Given the description of an element on the screen output the (x, y) to click on. 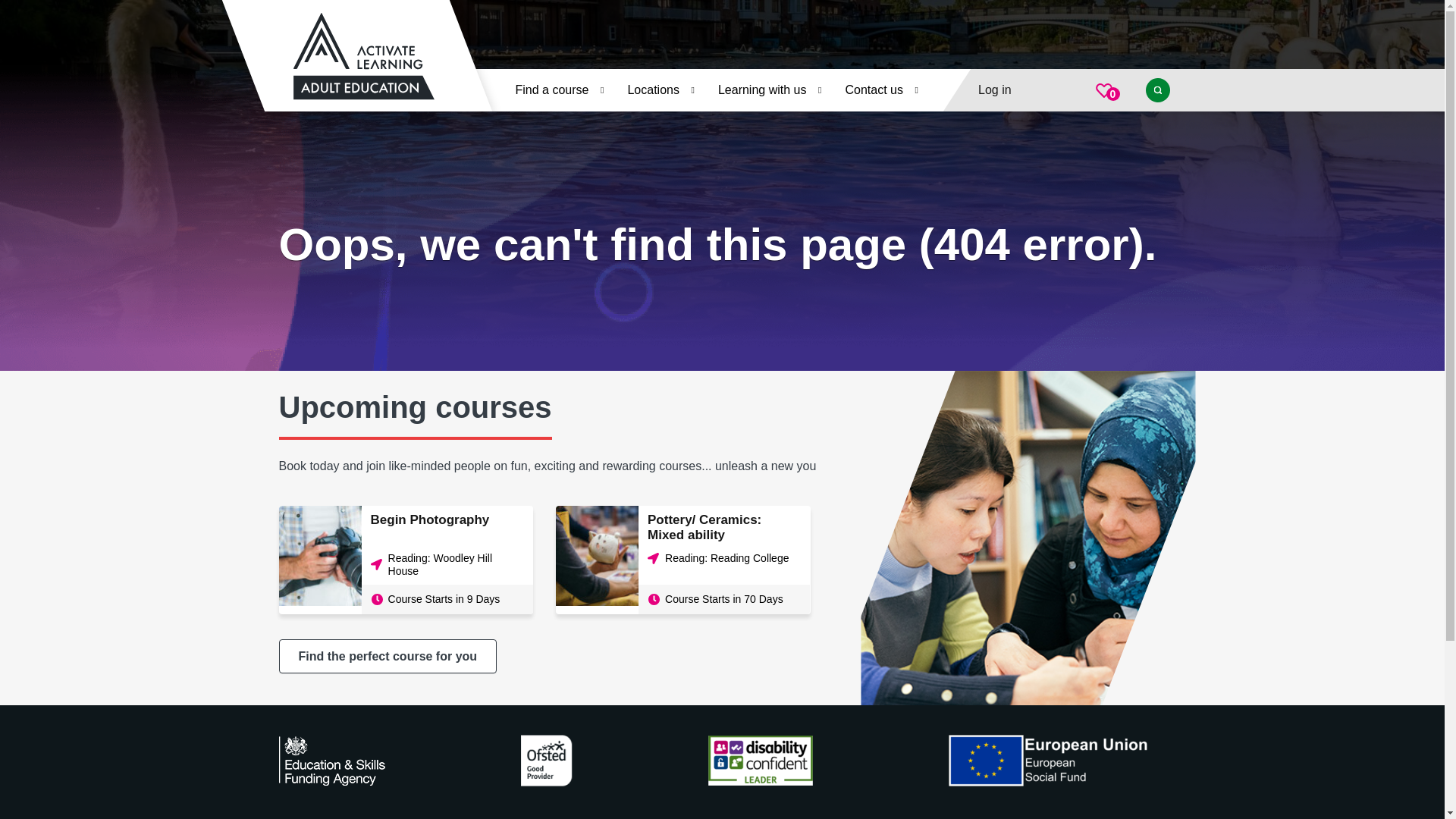
Log in (994, 90)
My Favourites (1103, 90)
Contact us (880, 89)
Search (1156, 89)
Locations (660, 89)
Find a course (558, 89)
Learning with us (769, 89)
